Given the description of an element on the screen output the (x, y) to click on. 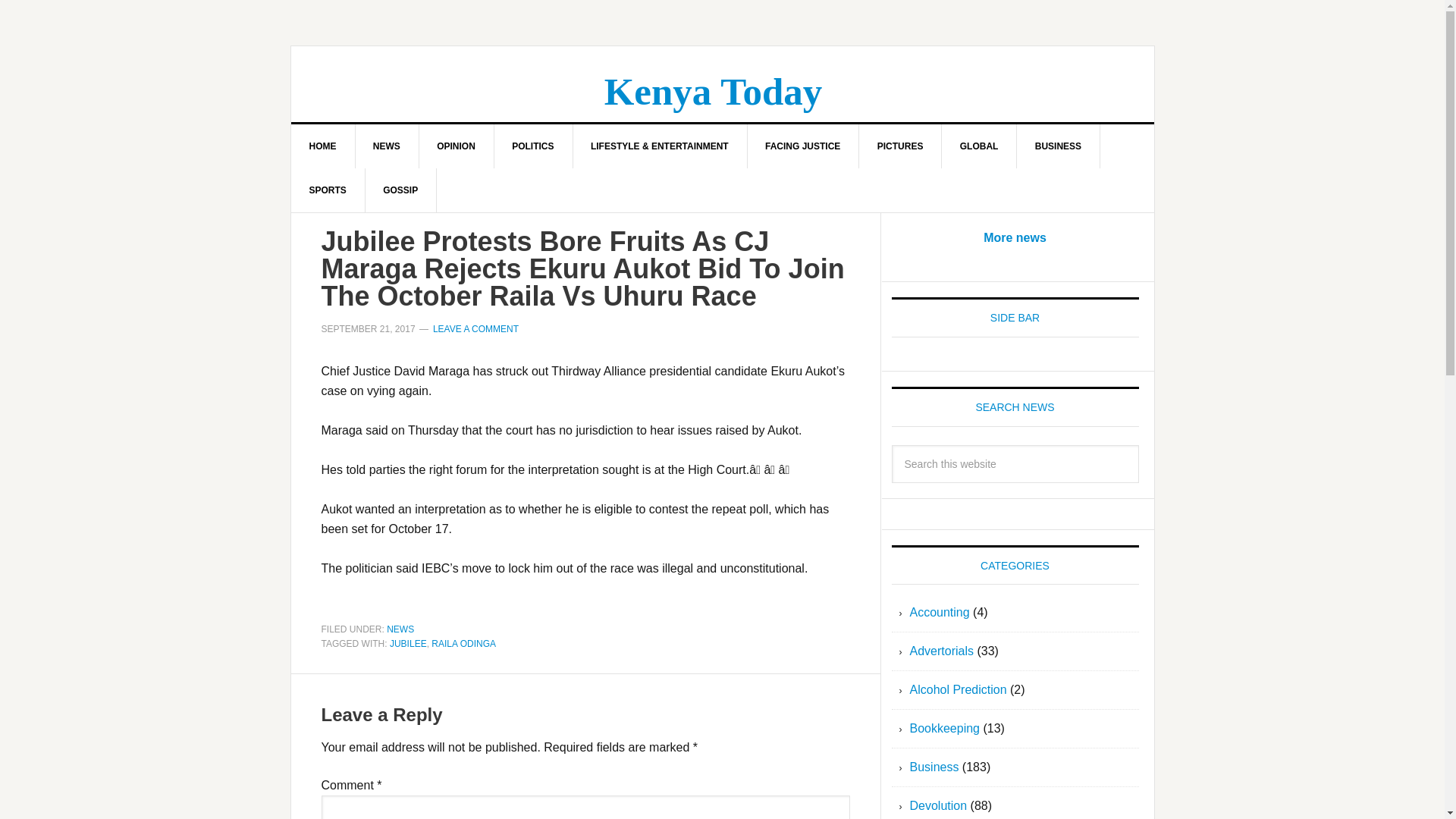
JUBILEE (408, 643)
OPINION (457, 146)
Bookkeeping (944, 727)
GLOBAL (979, 146)
LEAVE A COMMENT (475, 328)
Accounting (939, 612)
FACING JUSTICE (802, 146)
Business (934, 766)
